Given the description of an element on the screen output the (x, y) to click on. 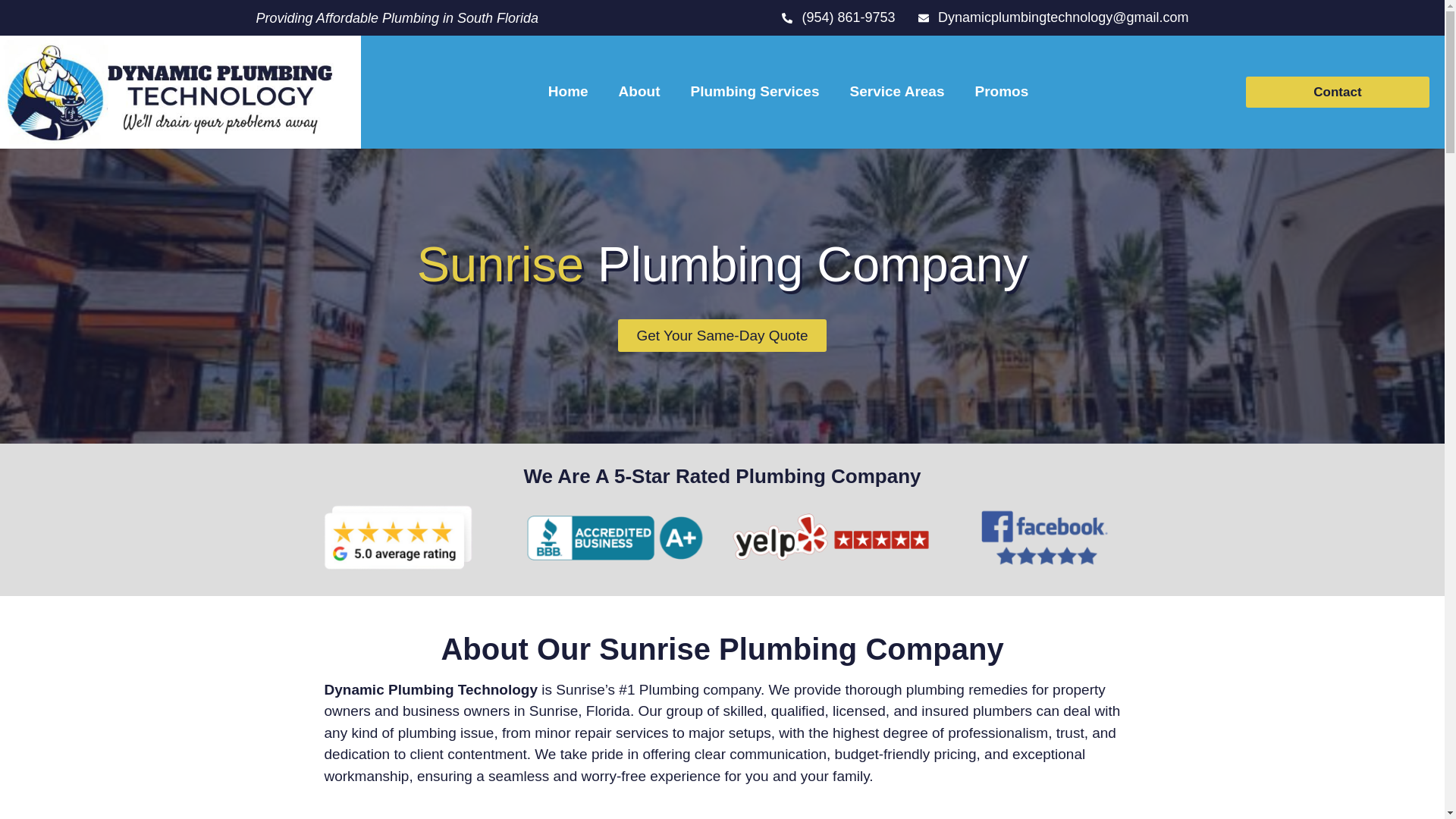
Service Areas (896, 91)
Plumbing Services (754, 91)
Promos (1001, 91)
Home (568, 91)
About (639, 91)
